Given the description of an element on the screen output the (x, y) to click on. 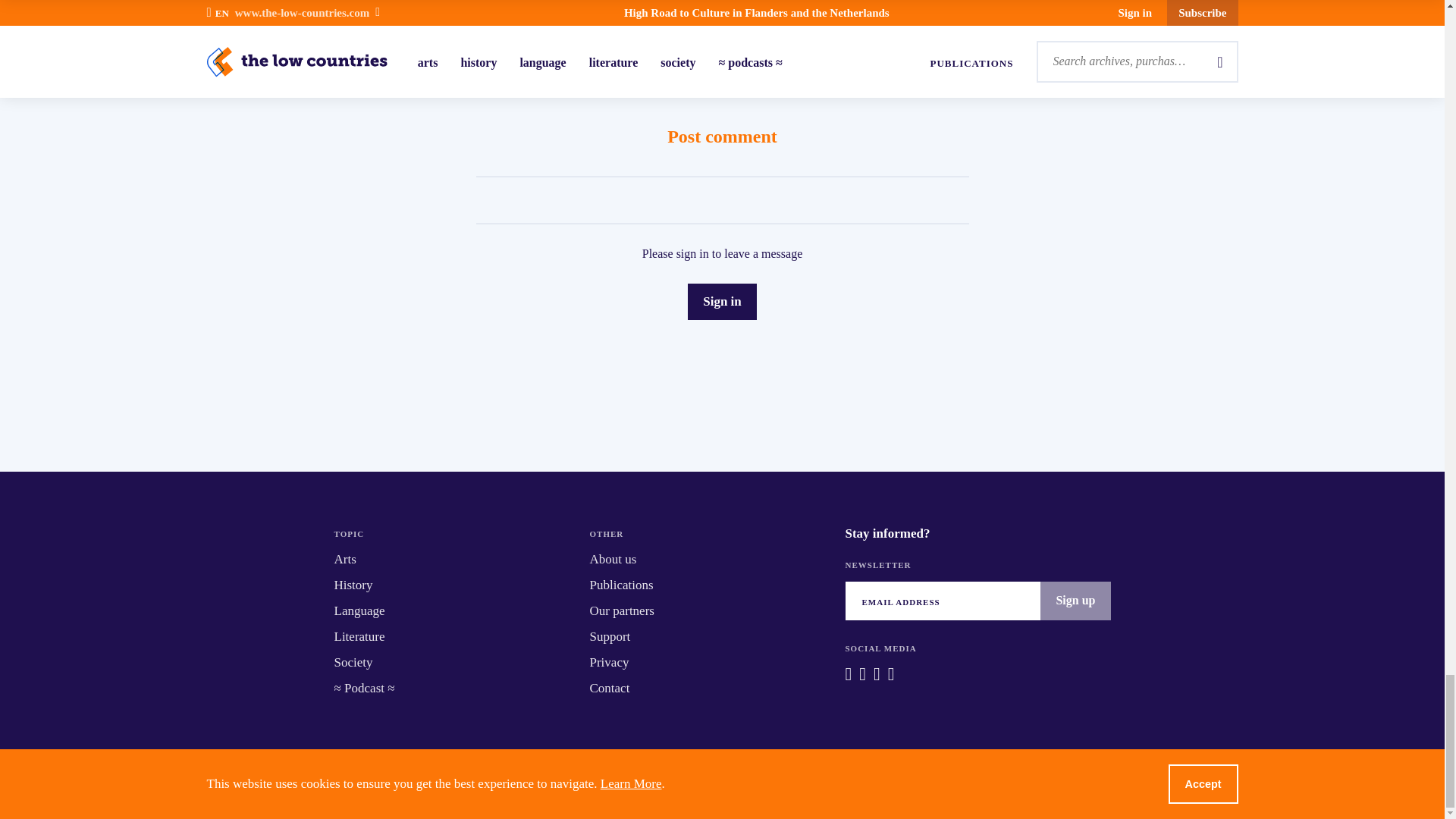
Logo-Flanders (605, 784)
Logo-ocw (857, 784)
Logo-ons-erfdeel-negatief (740, 784)
Sign up (1075, 600)
